Given the description of an element on the screen output the (x, y) to click on. 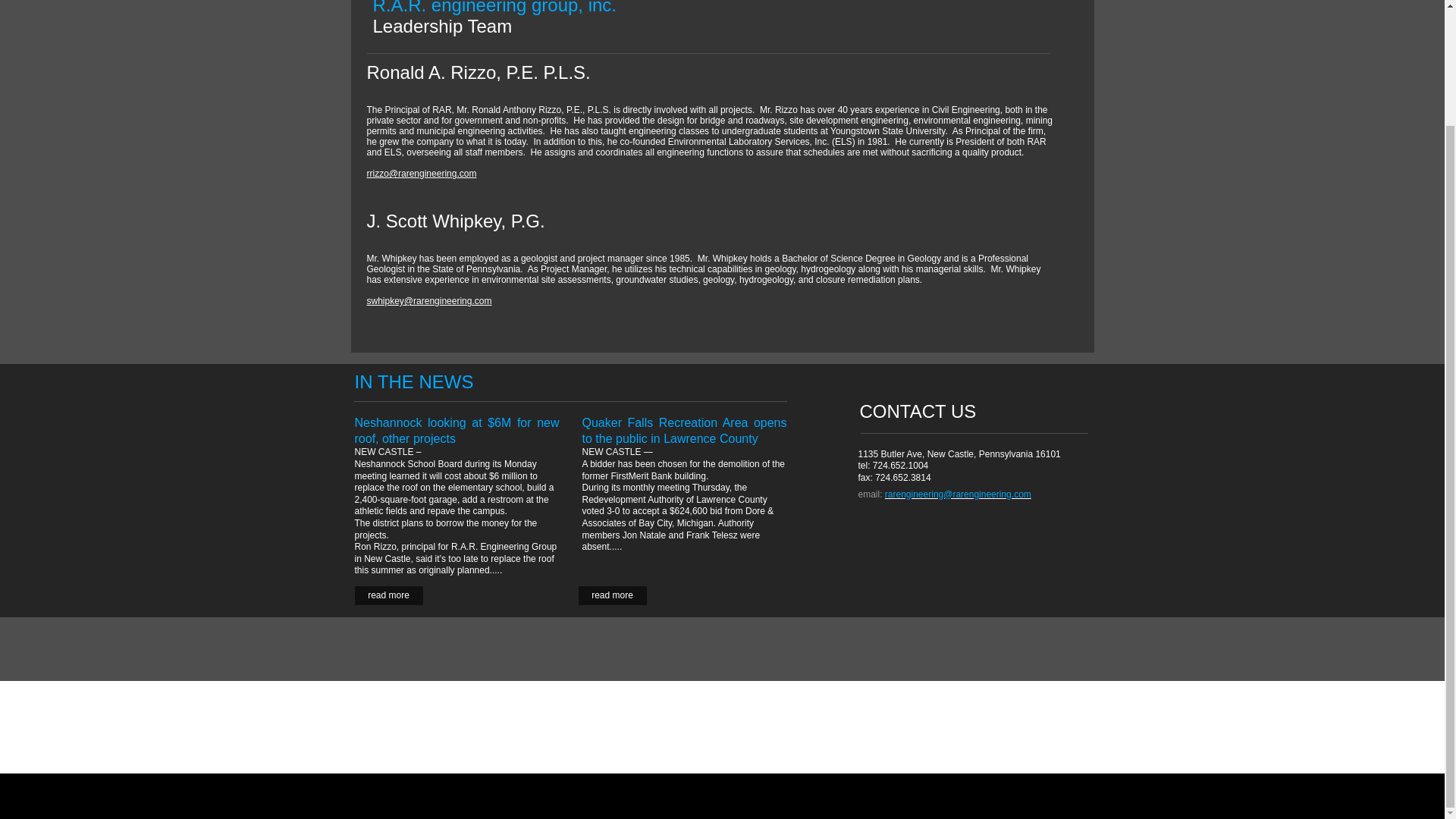
read more (389, 595)
read more (612, 595)
